Given the description of an element on the screen output the (x, y) to click on. 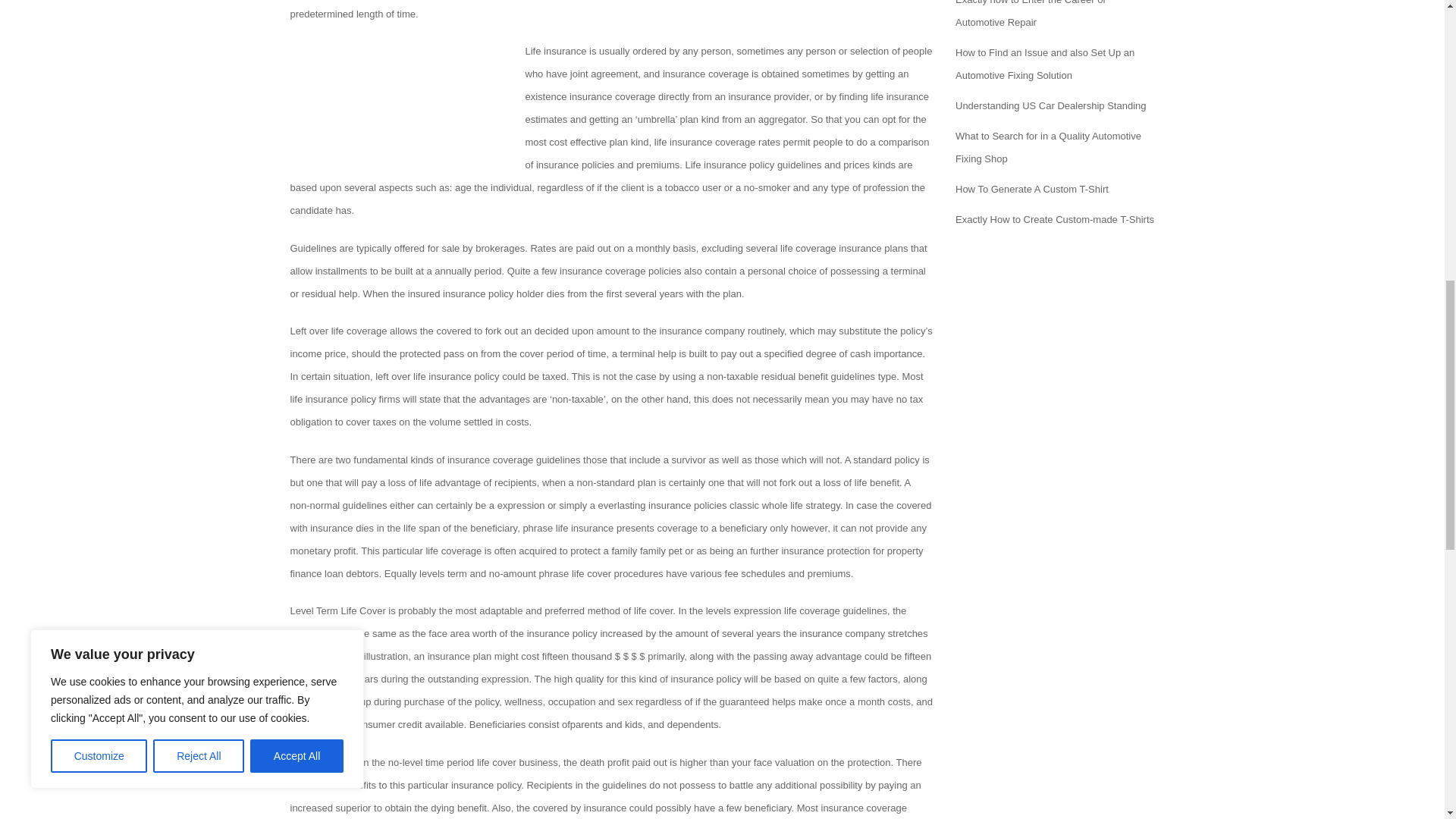
guidelines type (863, 376)
insurance policy (706, 678)
